Given the description of an element on the screen output the (x, y) to click on. 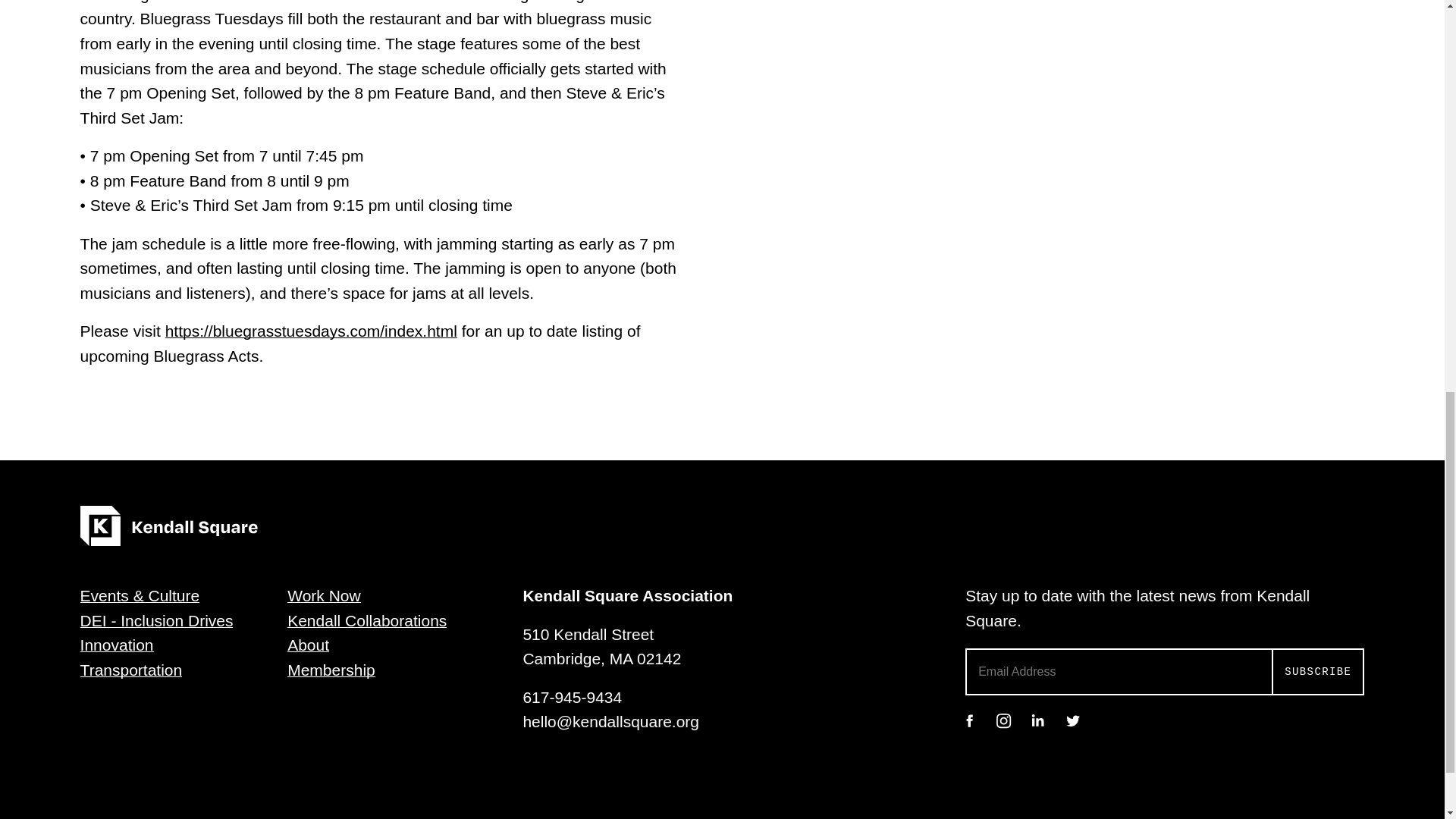
Work Now (322, 595)
Transportation (131, 669)
DEI - Inclusion Drives Innovation (156, 632)
subscribe (1317, 671)
